Given the description of an element on the screen output the (x, y) to click on. 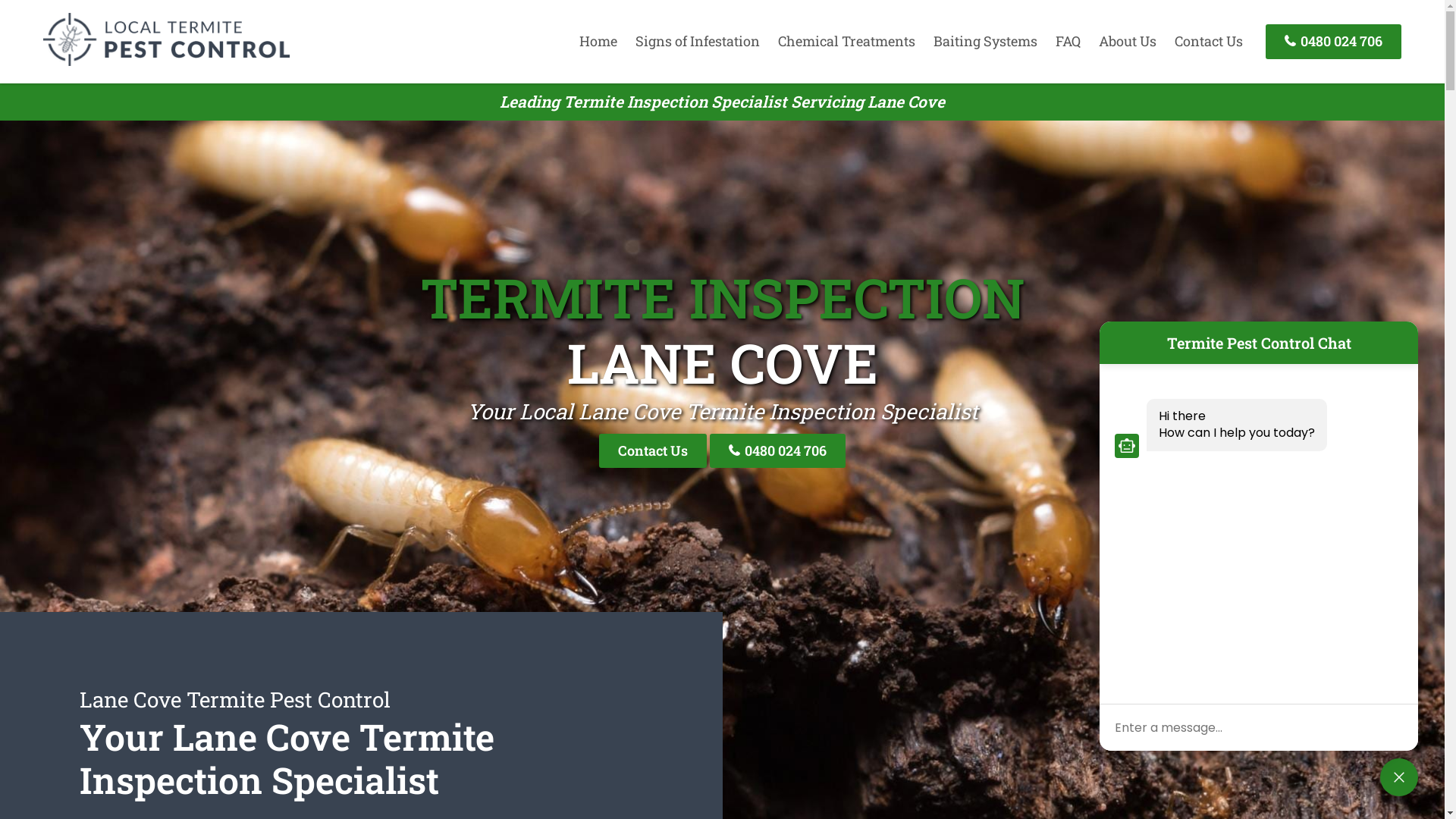
FAQ Element type: text (1068, 40)
Signs of Infestation Element type: text (697, 40)
close Element type: text (1399, 777)
Contact Us Element type: text (652, 450)
Termite Pest Control Element type: hover (166, 60)
About Us Element type: text (1127, 40)
0480 024 706 Element type: text (777, 450)
Baiting Systems Element type: text (984, 40)
Home Element type: text (597, 40)
Contact Us Element type: text (1208, 40)
0480 024 706 Element type: text (1333, 41)
Chemical Treatments Element type: text (846, 40)
